Given the description of an element on the screen output the (x, y) to click on. 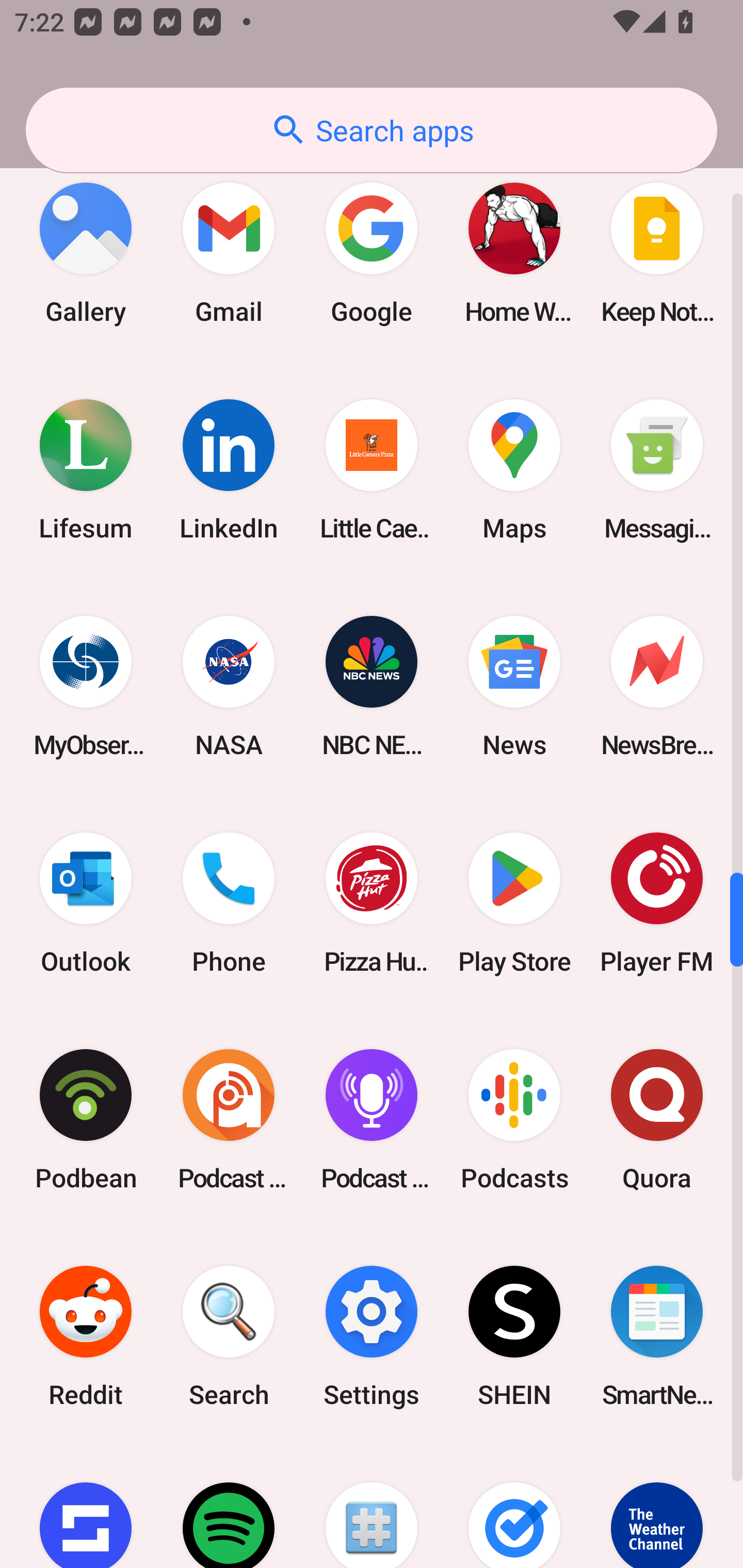
  Search apps (371, 130)
Gallery (85, 253)
Gmail (228, 253)
Google (371, 253)
Home Workout (514, 253)
Keep Notes (656, 253)
Lifesum (85, 470)
LinkedIn (228, 470)
Little Caesars Pizza (371, 470)
Maps (514, 470)
Messaging (656, 470)
MyObservatory (85, 686)
NASA (228, 686)
NBC NEWS (371, 686)
News (514, 686)
NewsBreak (656, 686)
Outlook (85, 902)
Phone (228, 902)
Pizza Hut HK & Macau (371, 902)
Play Store (514, 902)
Player FM (656, 902)
Podbean (85, 1119)
Podcast Addict (228, 1119)
Podcast Player (371, 1119)
Podcasts (514, 1119)
Quora (656, 1119)
Reddit (85, 1335)
Search (228, 1335)
Settings (371, 1335)
SHEIN (514, 1335)
SmartNews (656, 1335)
Sofascore (85, 1506)
Spotify (228, 1506)
Superuser (371, 1506)
Tasks (514, 1506)
The Weather Channel (656, 1506)
